Given the description of an element on the screen output the (x, y) to click on. 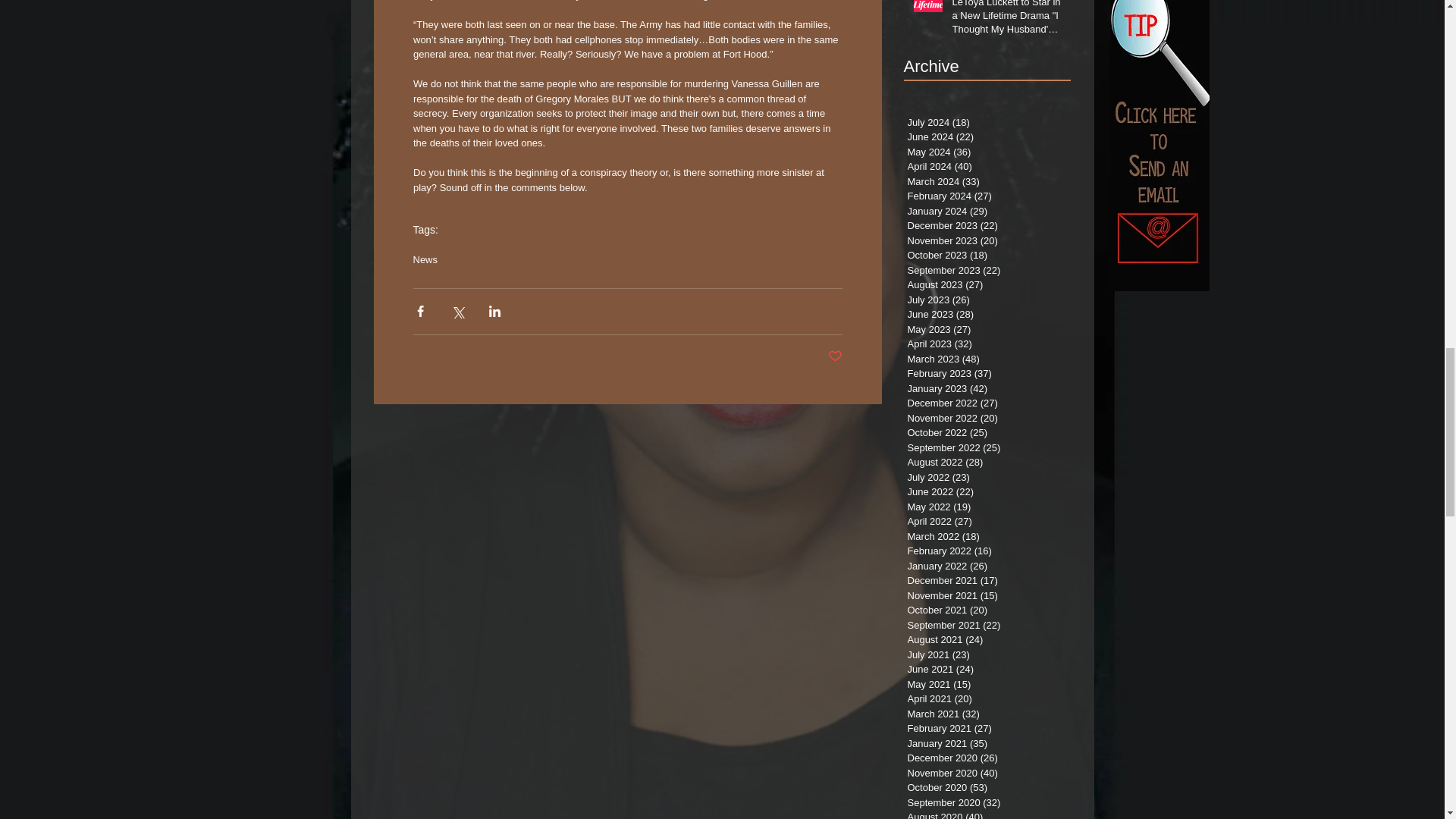
Post not marked as liked (835, 356)
News (425, 259)
